Given the description of an element on the screen output the (x, y) to click on. 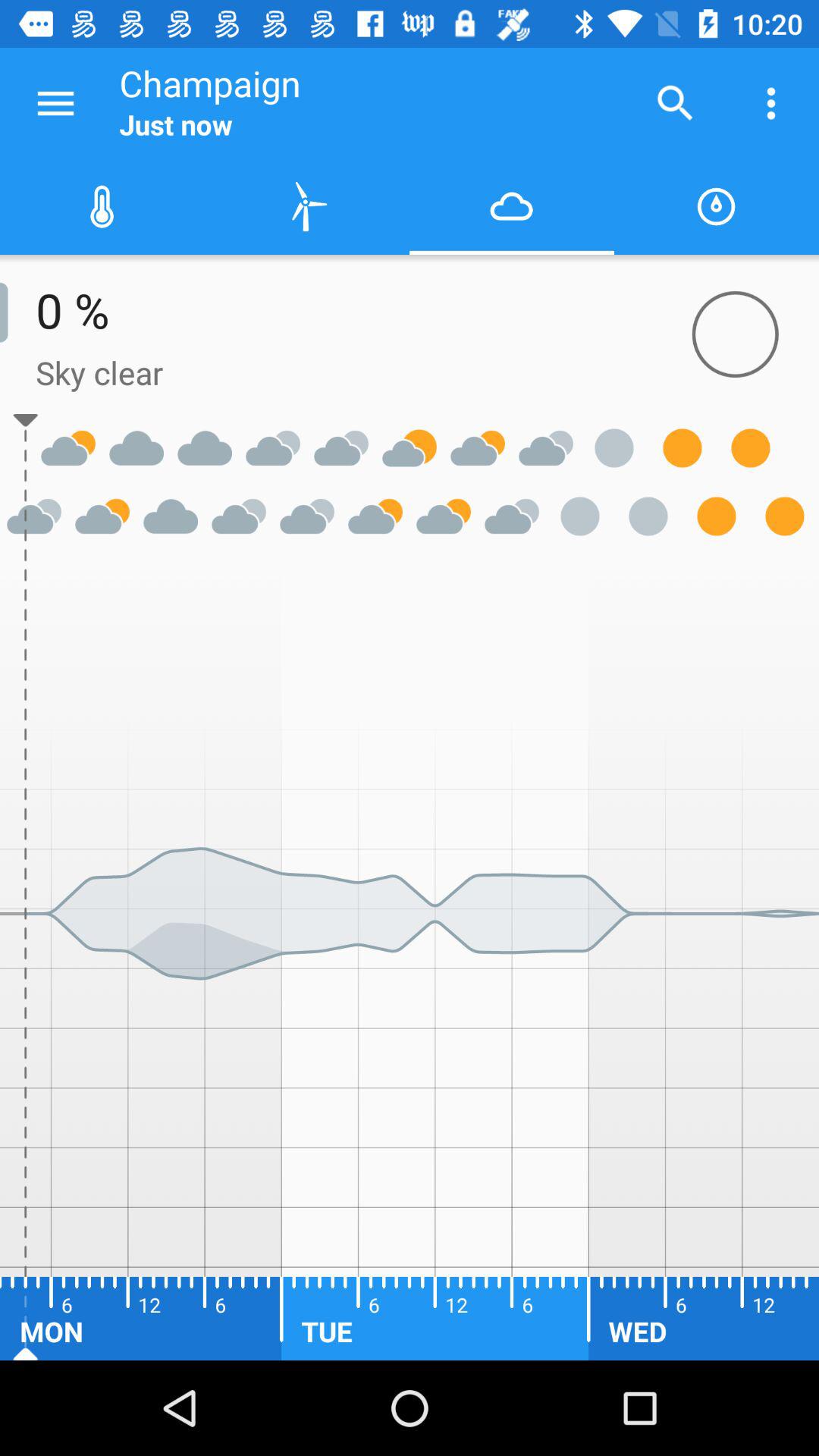
select the icon to the left of champaign item (55, 103)
